Given the description of an element on the screen output the (x, y) to click on. 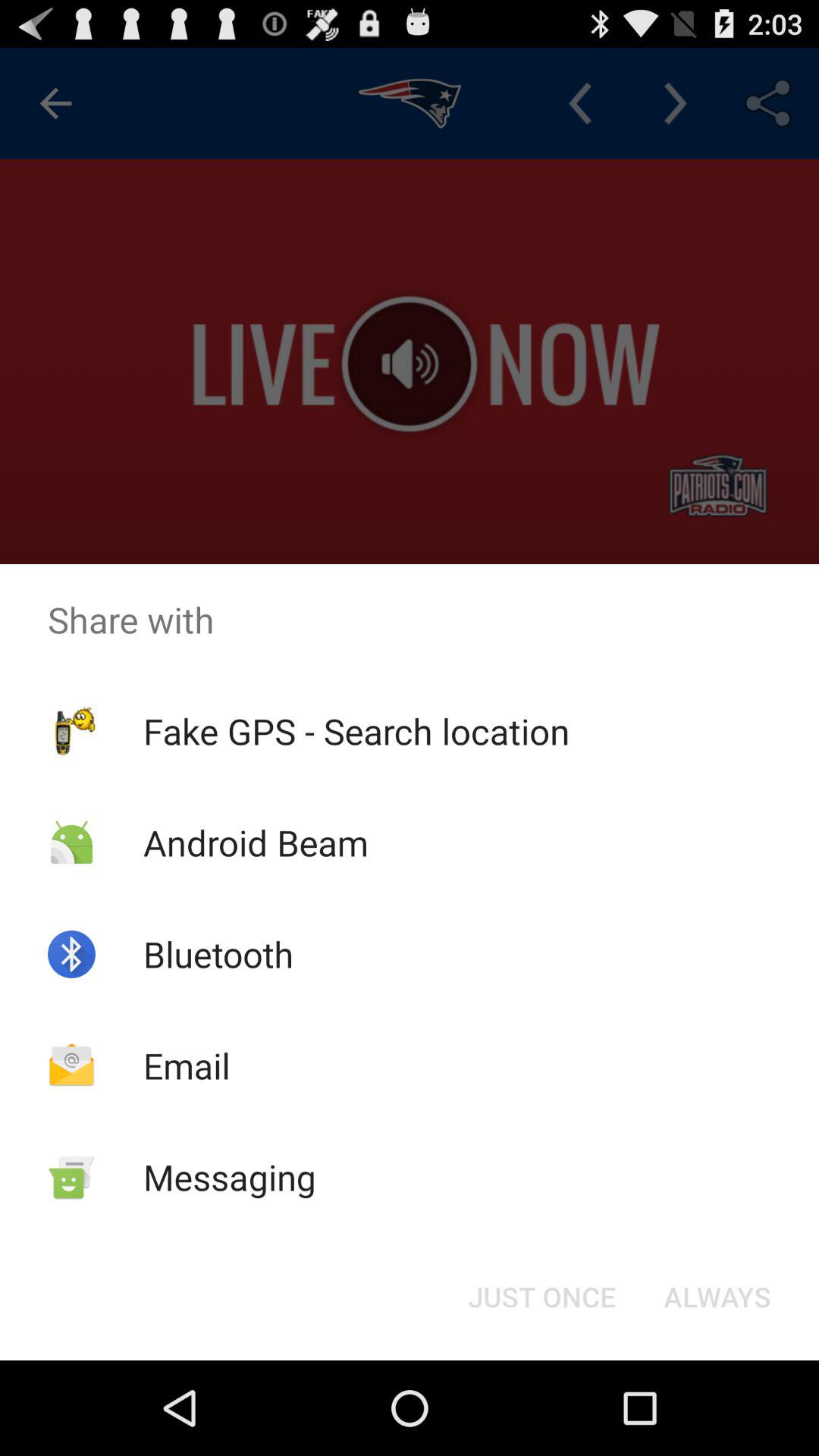
choose app below the bluetooth app (186, 1065)
